Given the description of an element on the screen output the (x, y) to click on. 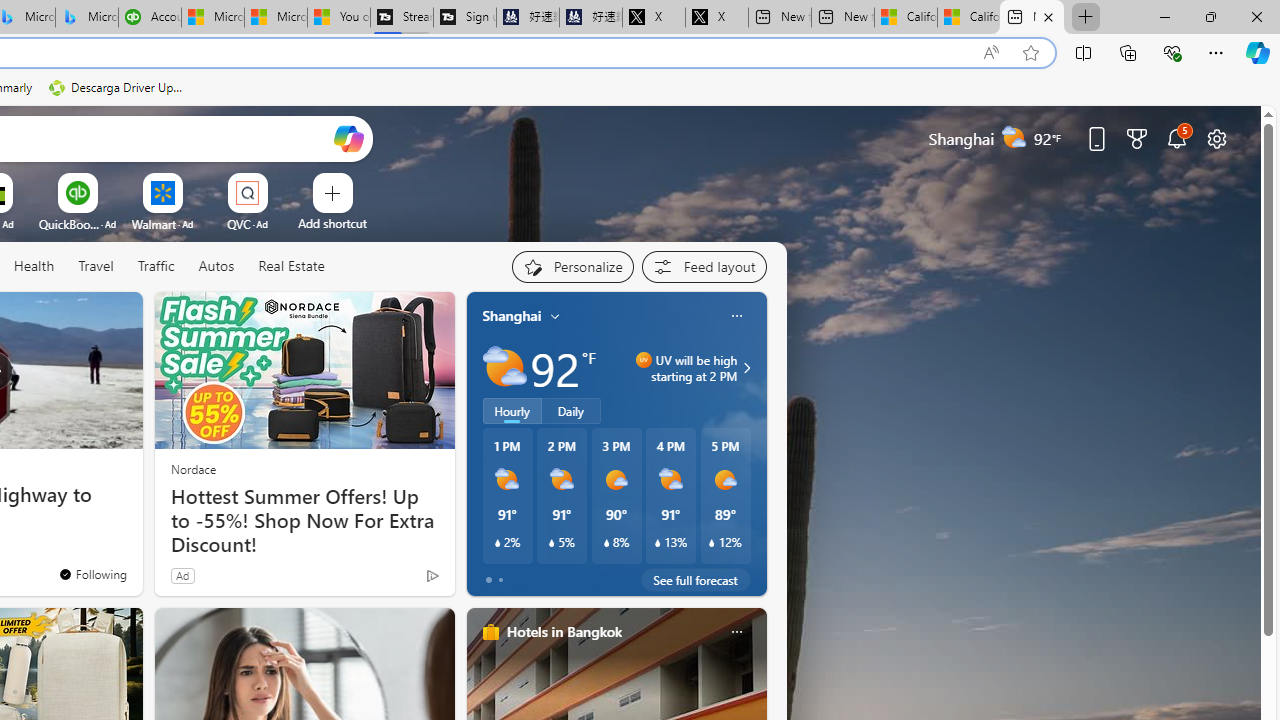
Feed settings (703, 266)
See full forecast (695, 579)
